Given the description of an element on the screen output the (x, y) to click on. 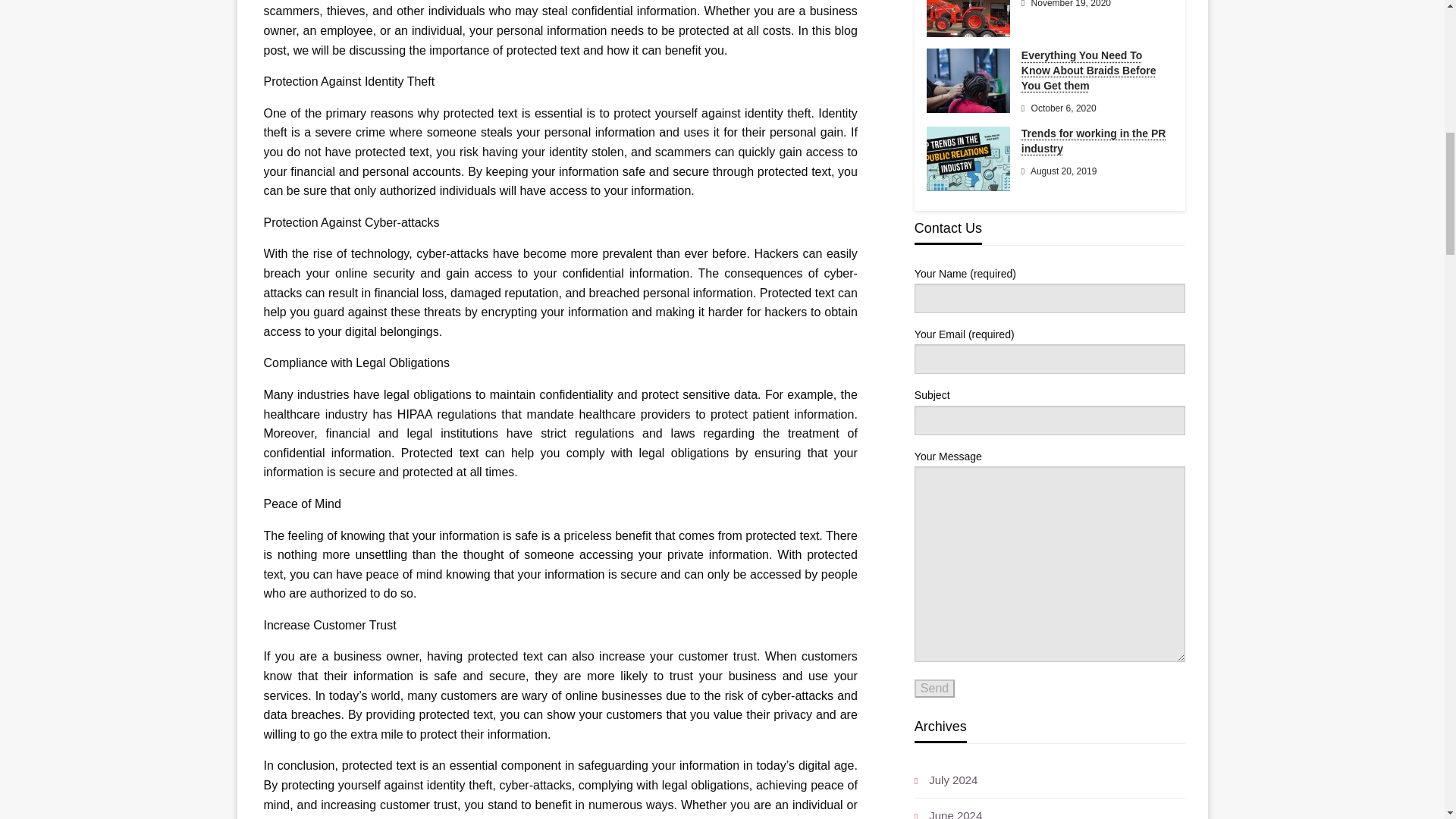
Send (934, 688)
